Given the description of an element on the screen output the (x, y) to click on. 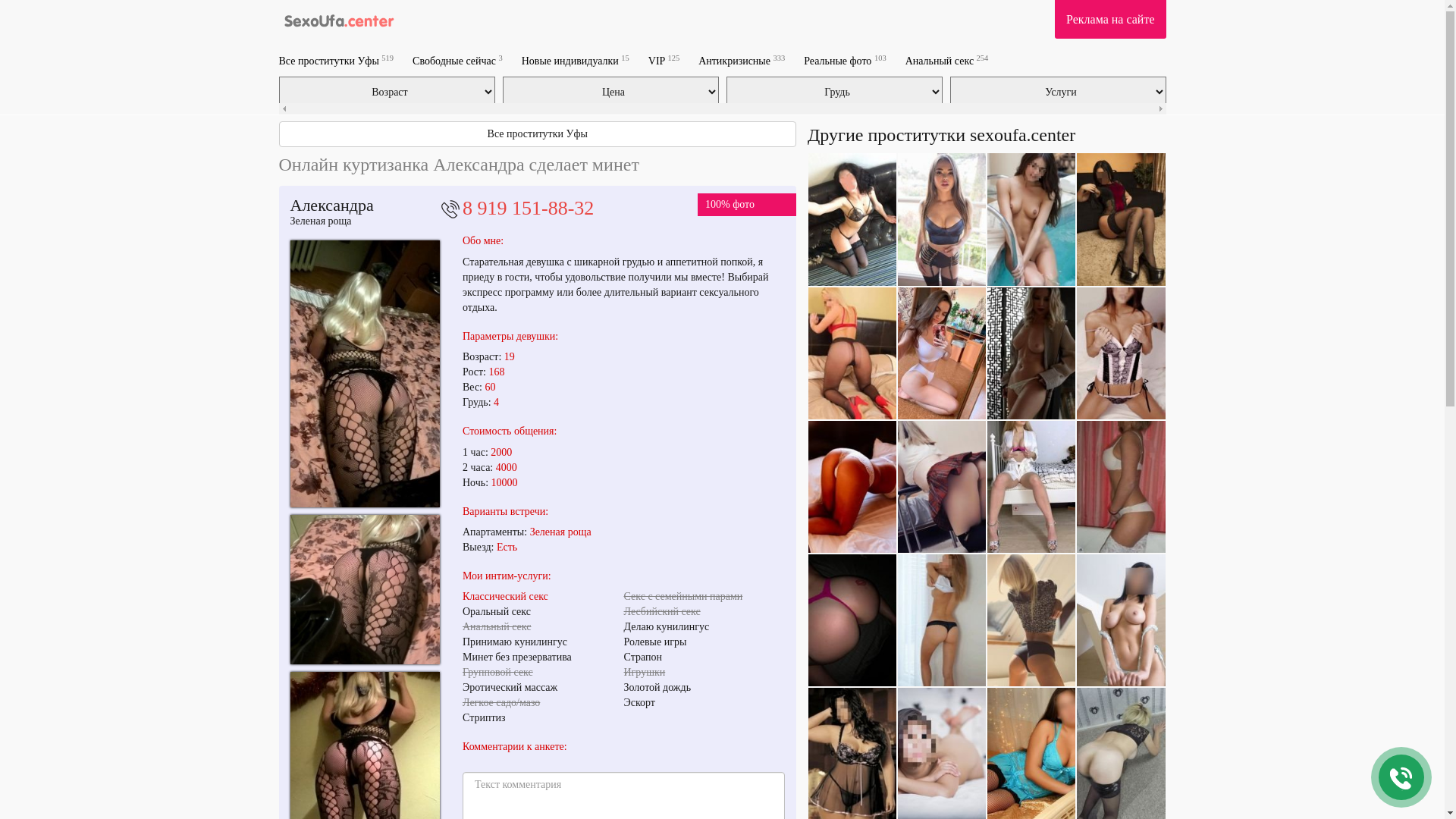
VIP 125 Element type: text (663, 61)
8 919 151-88-32 Element type: text (527, 208)
